Given the description of an element on the screen output the (x, y) to click on. 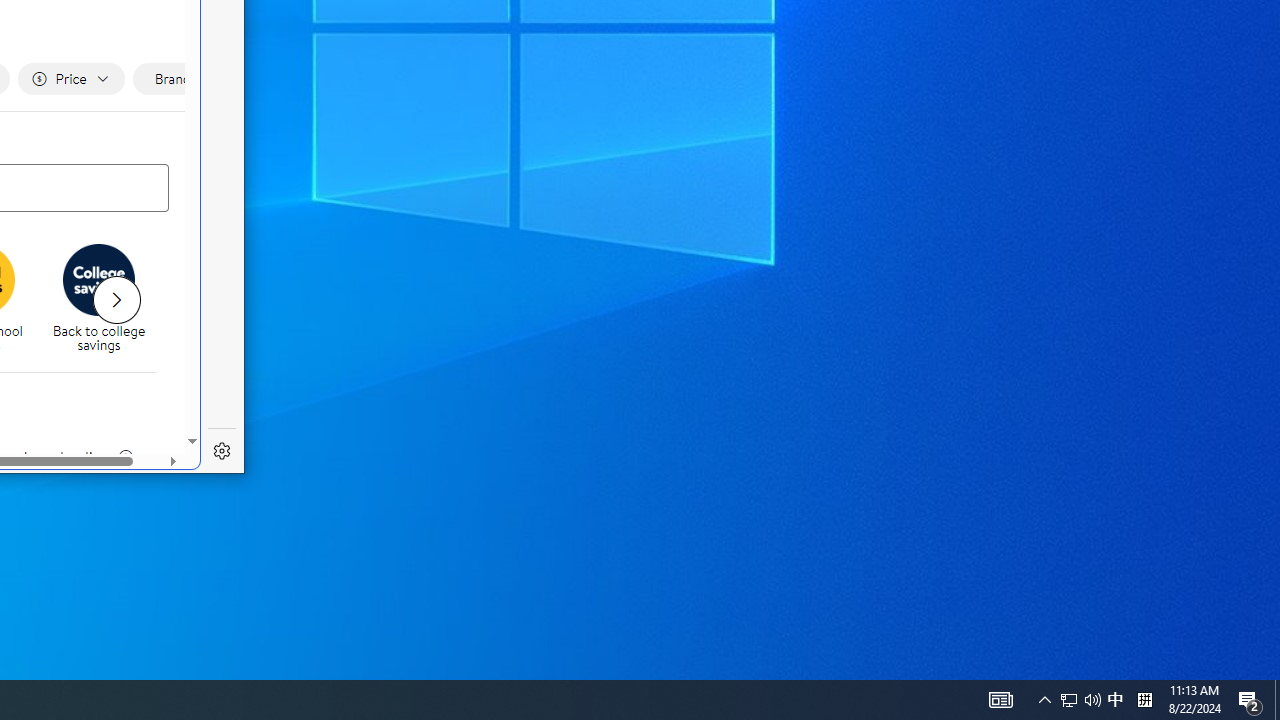
User Promoted Notification Area (1080, 699)
Q2790: 100% (1092, 699)
Filter by Brand not applied, activate to change (180, 79)
legal information (125, 457)
Filter by Price not applied, activate to change (70, 79)
Notification Chevron (1044, 699)
Back to College savings Back to college savings (1115, 699)
AutomationID: 4105 (99, 300)
Next slide for chipModuleWithImages list (1000, 699)
Back to College savings (1069, 699)
Show desktop (116, 299)
